Given the description of an element on the screen output the (x, y) to click on. 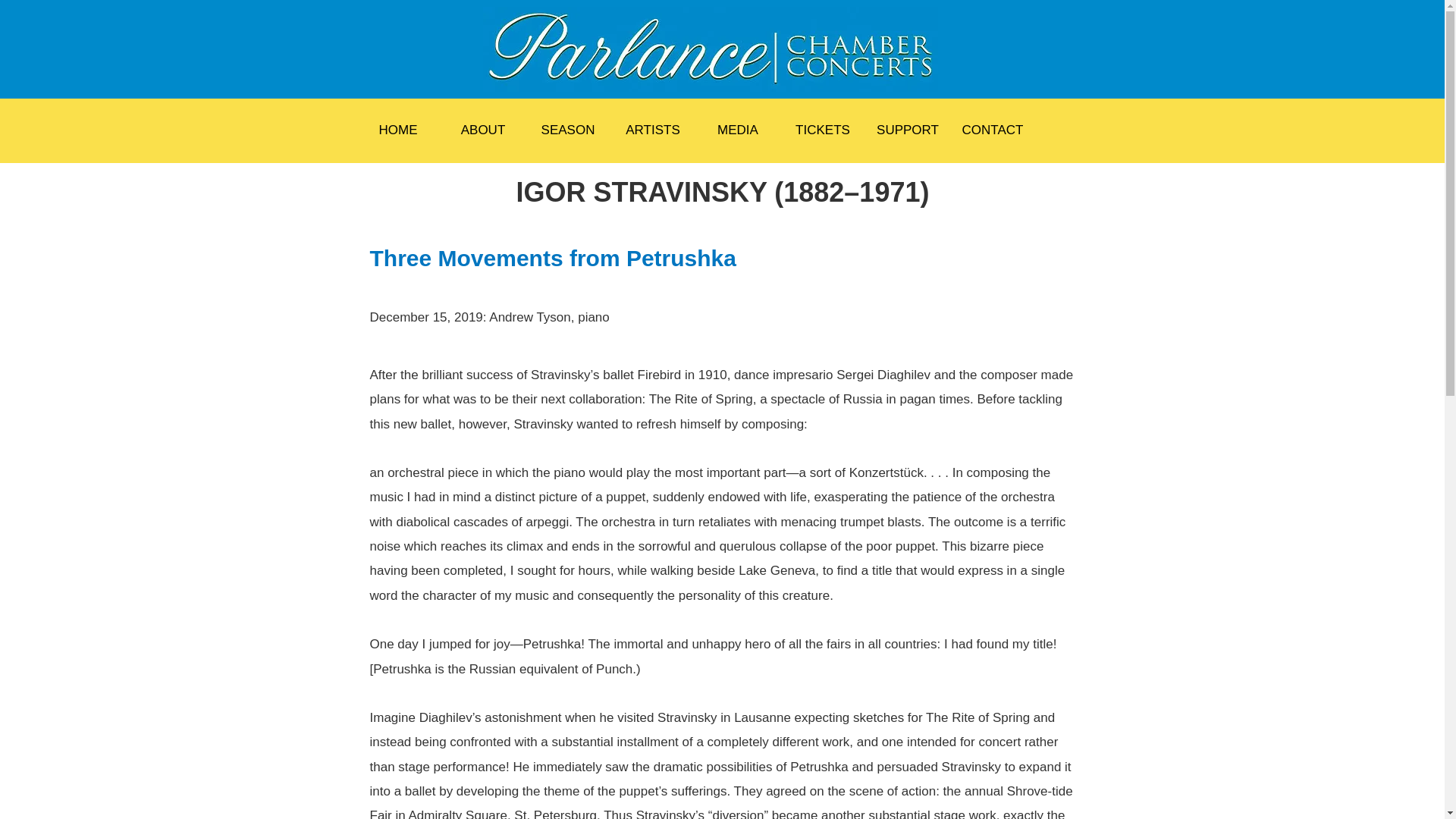
CONTACT (992, 130)
TICKETS (822, 130)
HOME (398, 130)
